Given the description of an element on the screen output the (x, y) to click on. 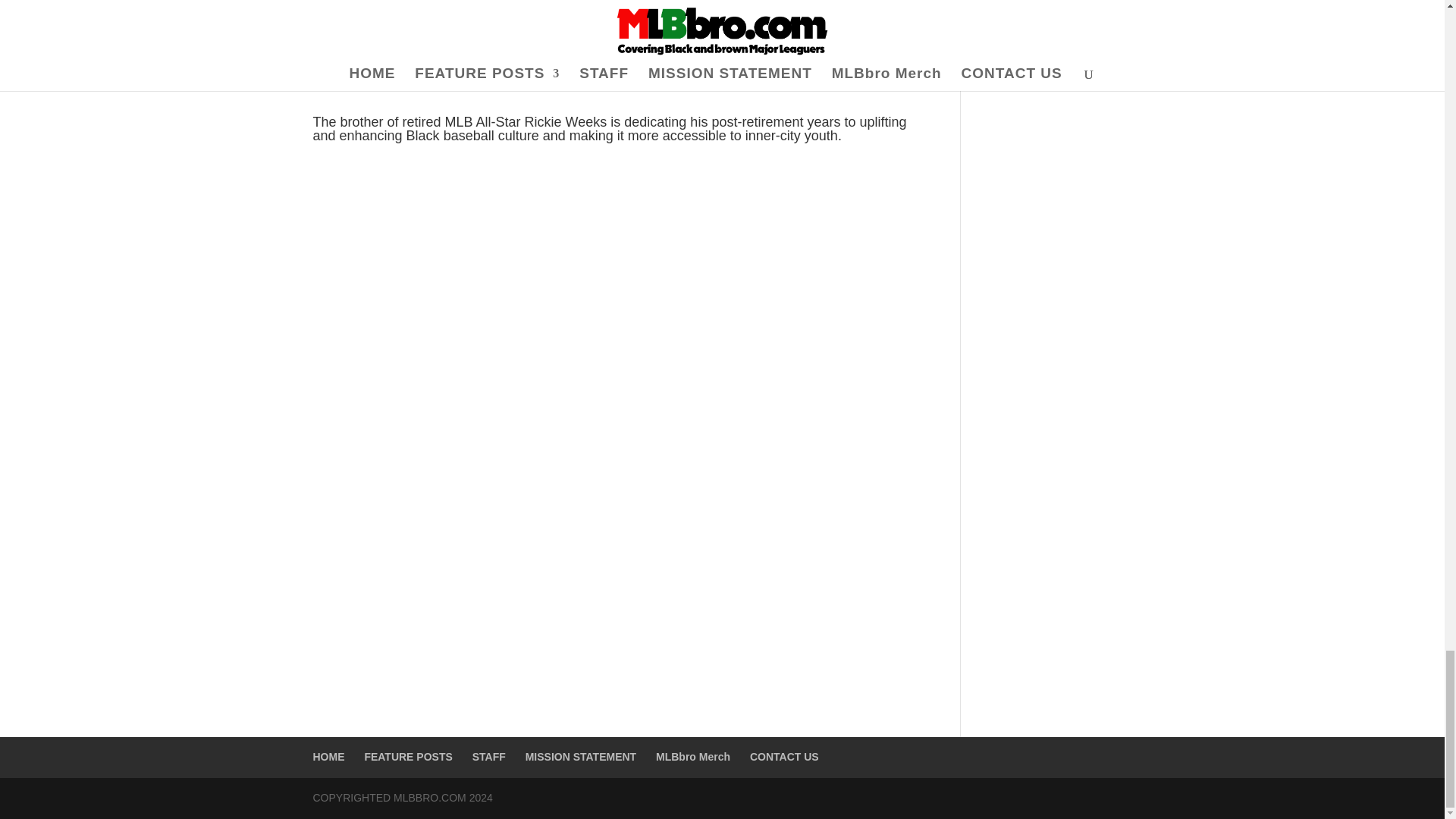
MLBbro Staff (357, 25)
CLEAN UP (496, 25)
Posts by MLBbro Staff (357, 25)
